Given the description of an element on the screen output the (x, y) to click on. 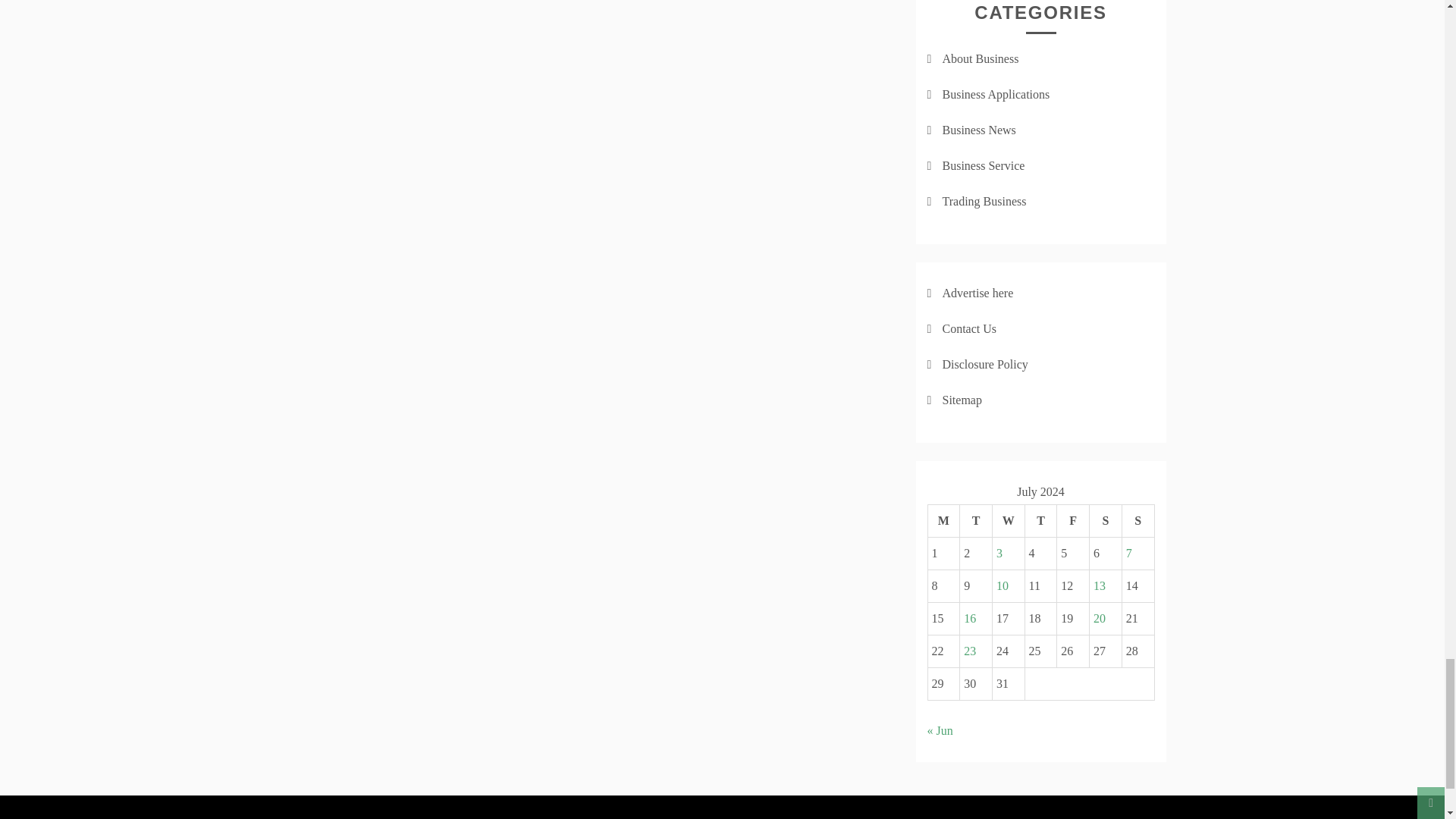
Tuesday (975, 521)
Friday (1073, 521)
Sunday (1137, 521)
Thursday (1041, 521)
Wednesday (1008, 521)
Monday (943, 521)
Saturday (1105, 521)
